Given the description of an element on the screen output the (x, y) to click on. 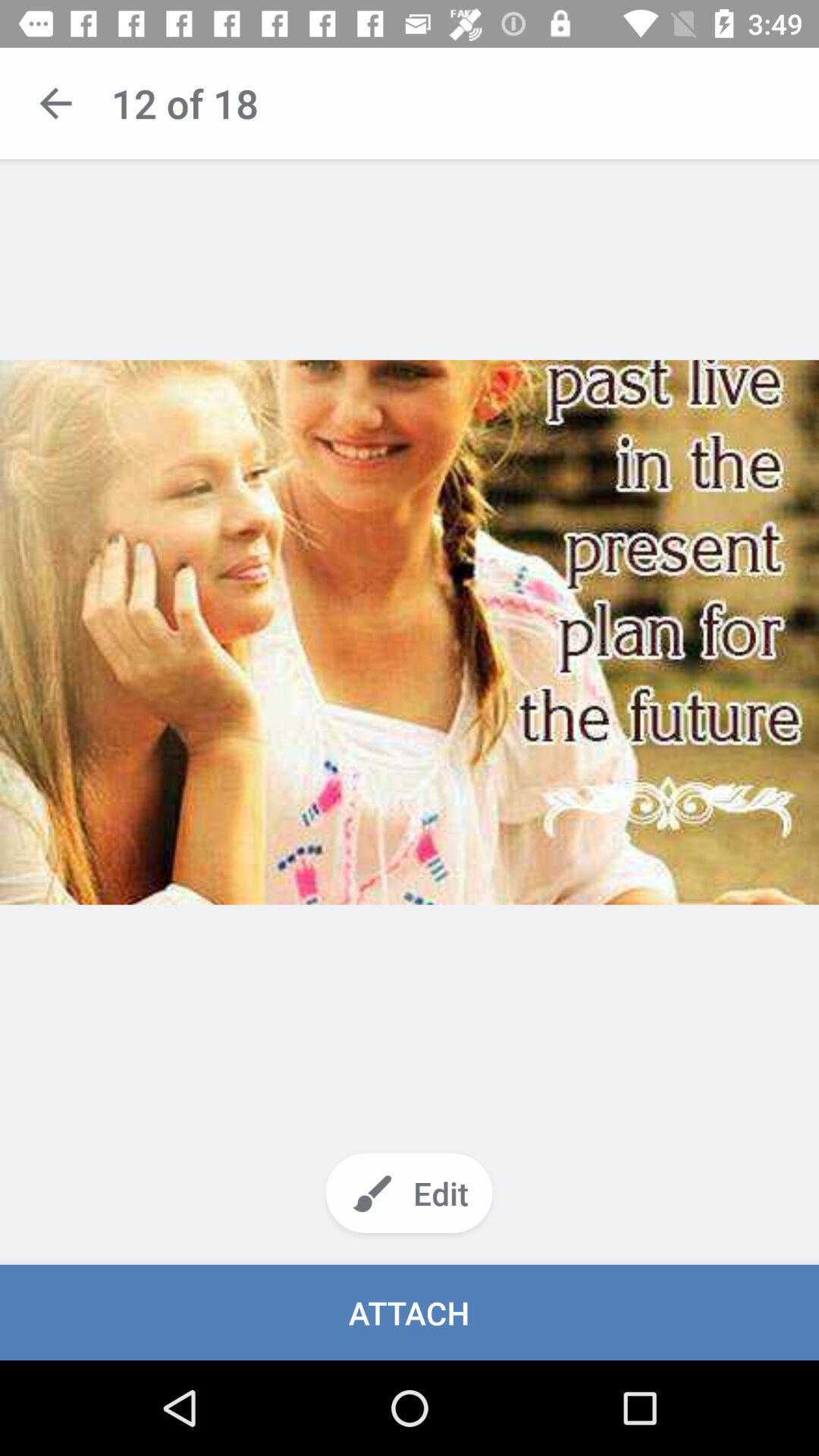
back to previous content (55, 103)
